Given the description of an element on the screen output the (x, y) to click on. 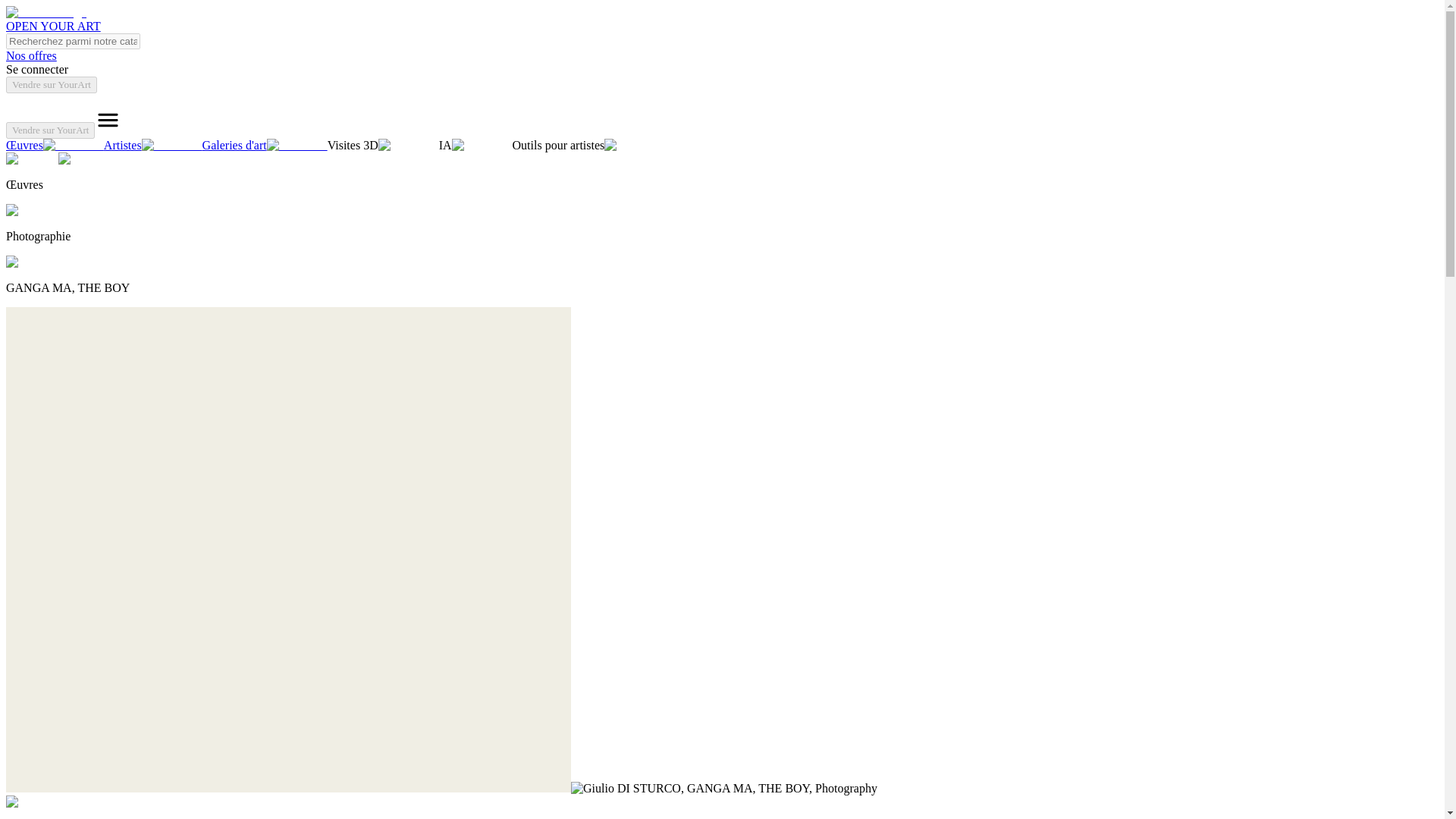
Artistes (152, 144)
Vendre sur YourArt (49, 130)
Nos offres (30, 55)
Vendre sur YourArt (51, 84)
Galeries d'art (264, 144)
